Given the description of an element on the screen output the (x, y) to click on. 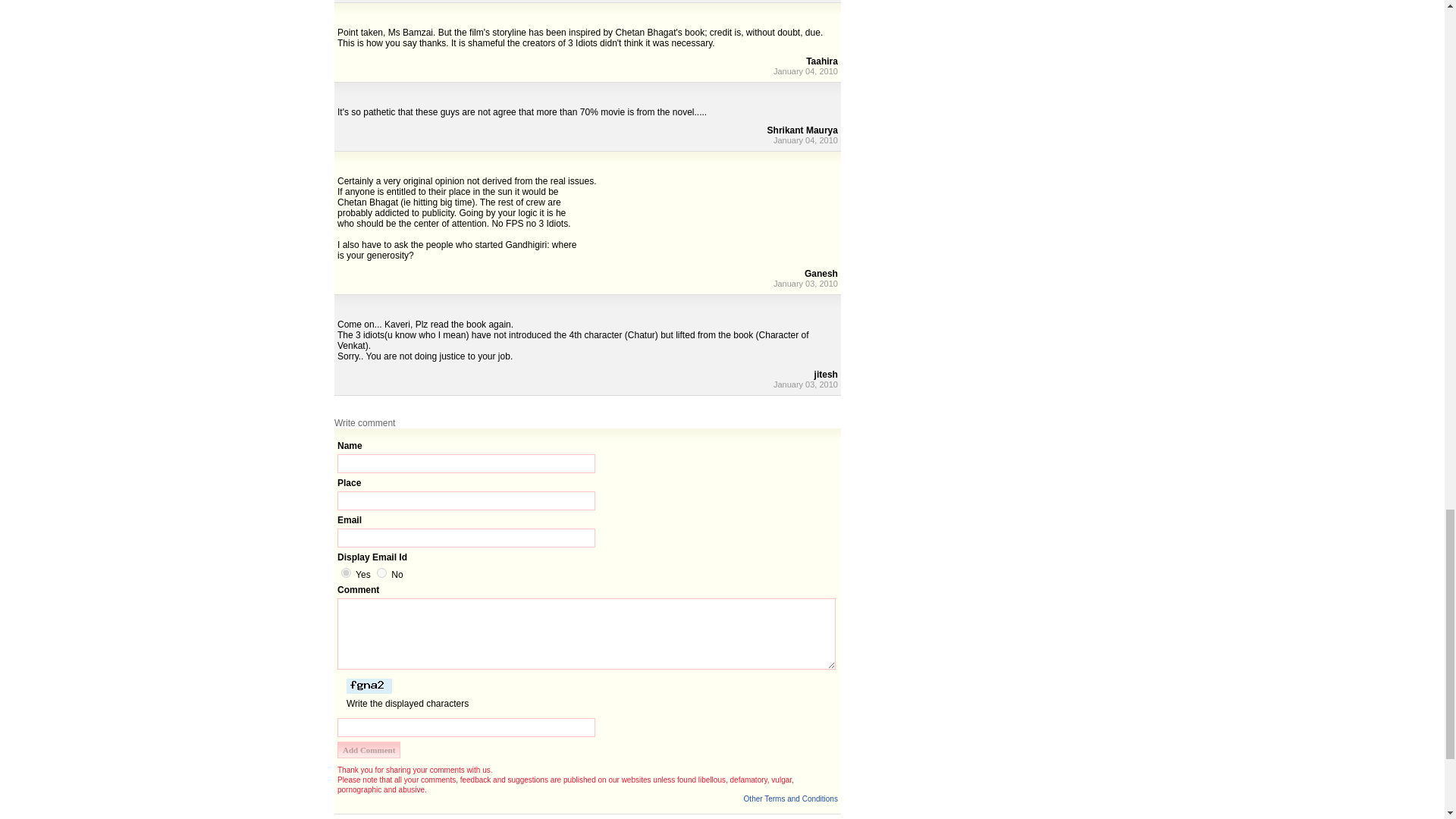
0 (382, 573)
1 (345, 573)
